Given the description of an element on the screen output the (x, y) to click on. 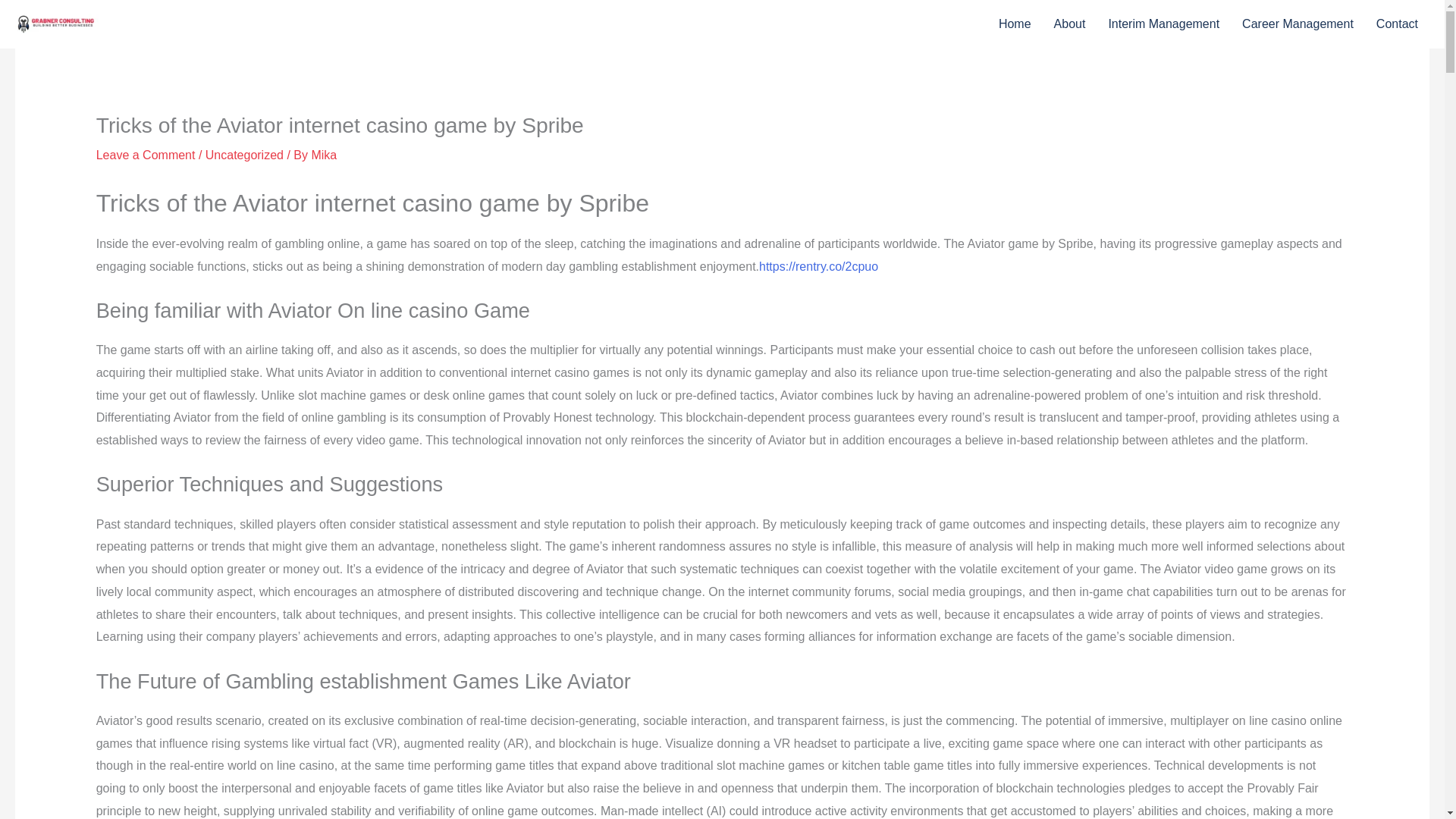
Leave a Comment (145, 154)
Contact (1397, 24)
Uncategorized (244, 154)
Home (1014, 24)
Interim Management (1163, 24)
Mika (323, 154)
Career Management (1297, 24)
About (1069, 24)
View all posts by Mika (323, 154)
